Given the description of an element on the screen output the (x, y) to click on. 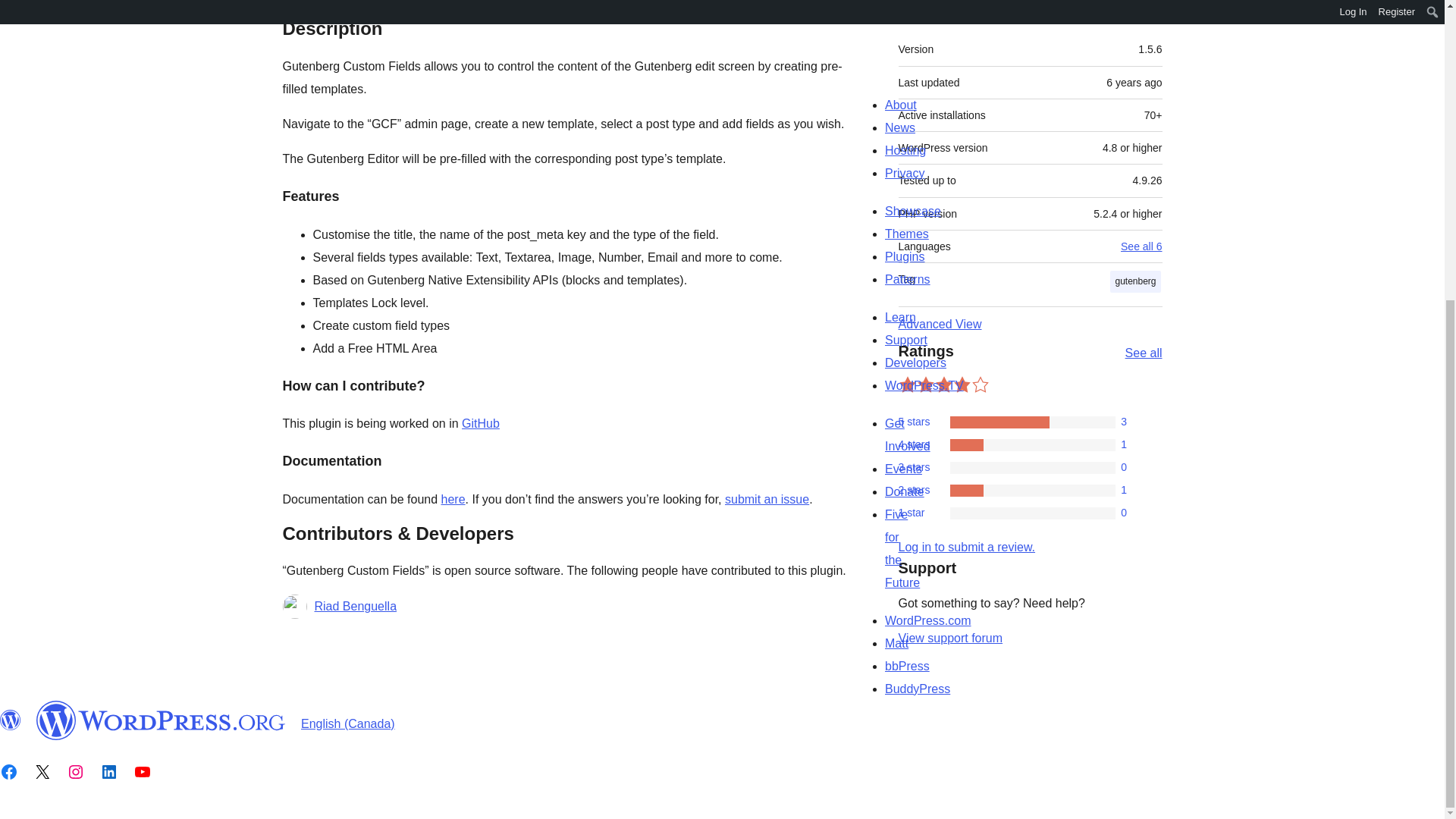
Log in to WordPress.org (966, 546)
Development (487, 8)
GitHub (480, 422)
Reviews (392, 8)
submit an issue (767, 499)
here (453, 499)
WordPress.org (160, 720)
Support (1132, 8)
Details (316, 8)
WordPress.org (10, 720)
